Given the description of an element on the screen output the (x, y) to click on. 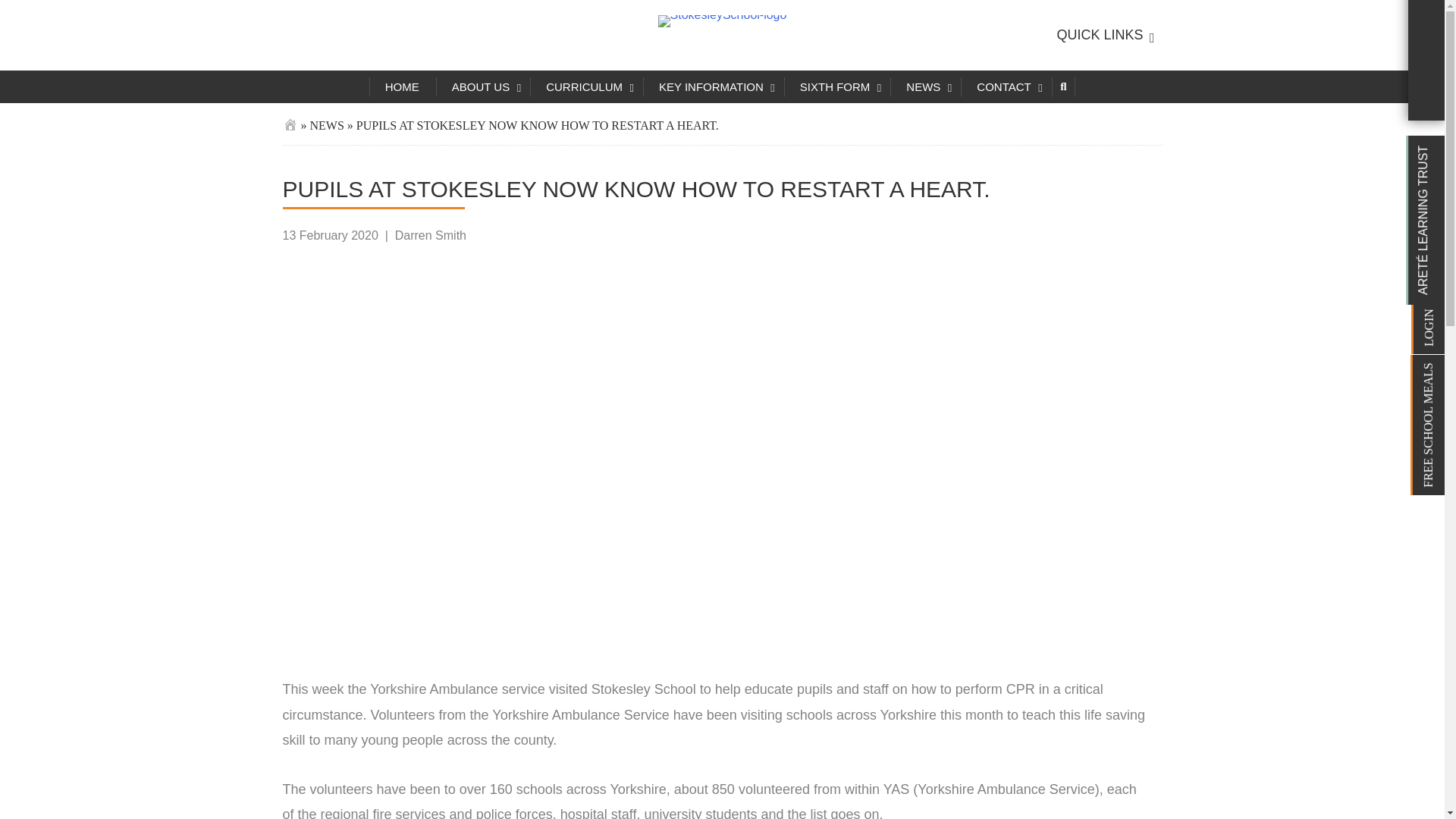
StokesleySchool-logo (722, 21)
HOME (401, 86)
ABOUT US (482, 86)
QUICK LINKS (1101, 35)
